Given the description of an element on the screen output the (x, y) to click on. 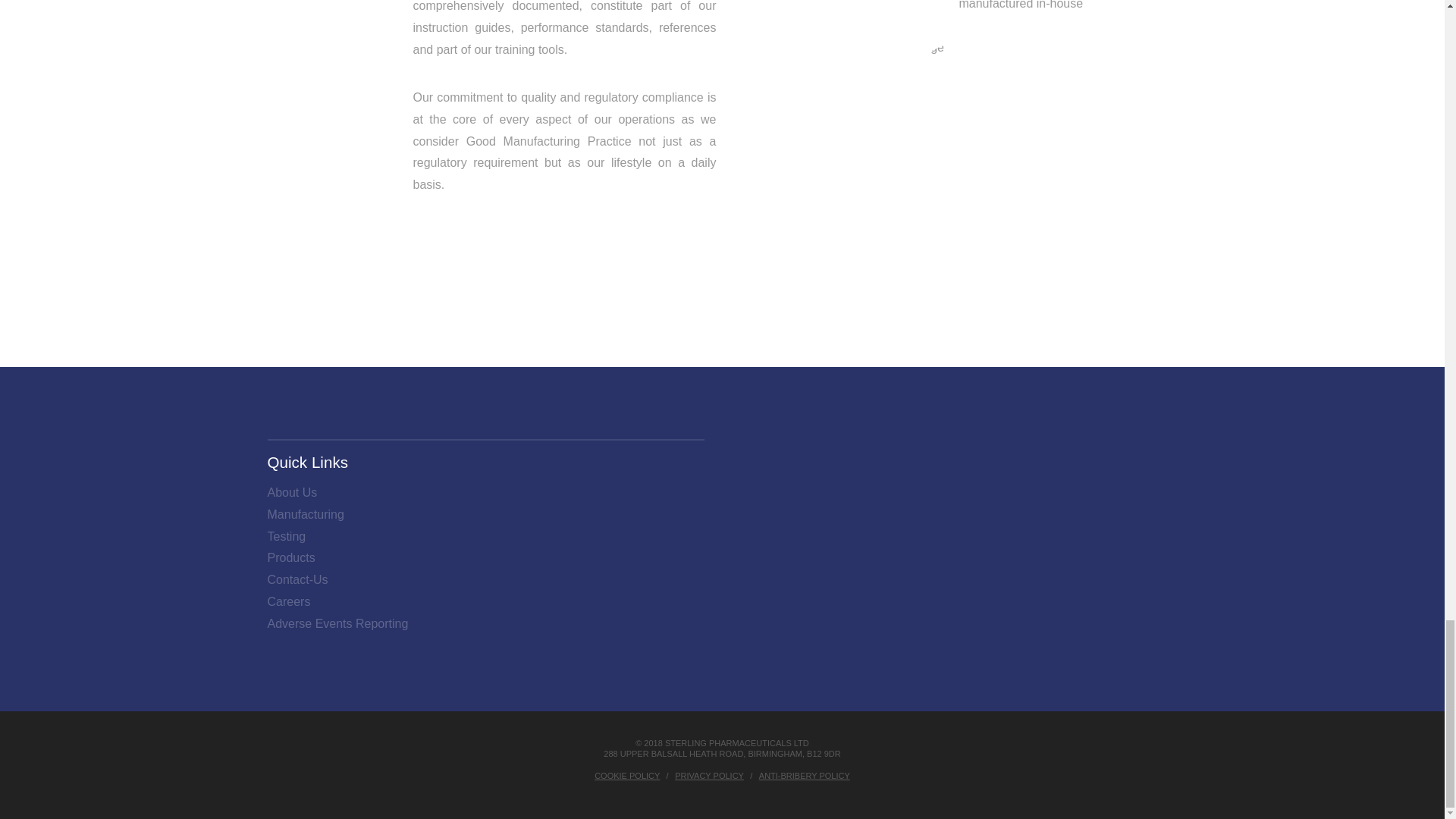
About Us (291, 493)
Careers (288, 602)
Manufacturing (304, 515)
COOKIE POLICY (626, 775)
Products (290, 558)
Testing (285, 536)
ANTI-BRIBERY POLICY (804, 775)
PRIVACY POLICY (709, 775)
Adverse Events Reporting (336, 624)
Contact-Us (296, 580)
